Given the description of an element on the screen output the (x, y) to click on. 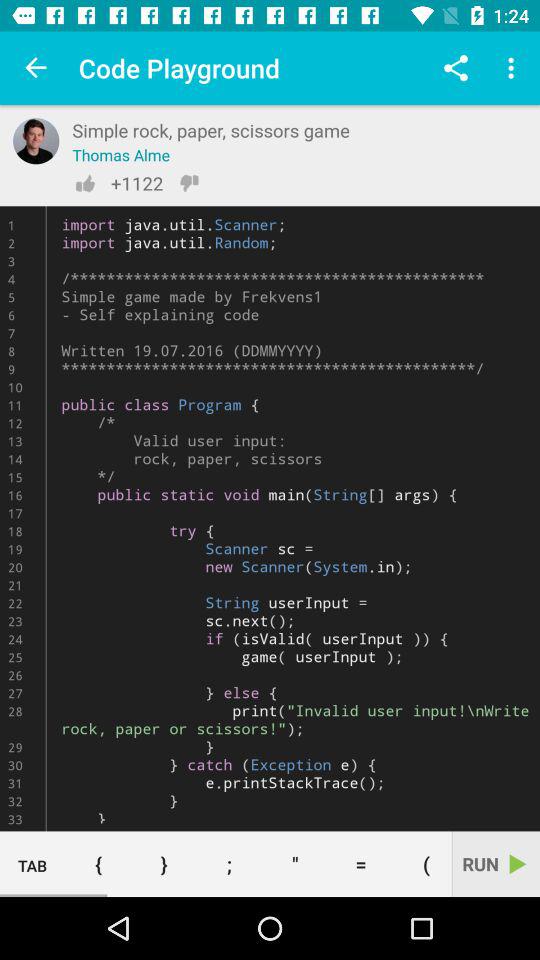
dislike button (189, 183)
